Given the description of an element on the screen output the (x, y) to click on. 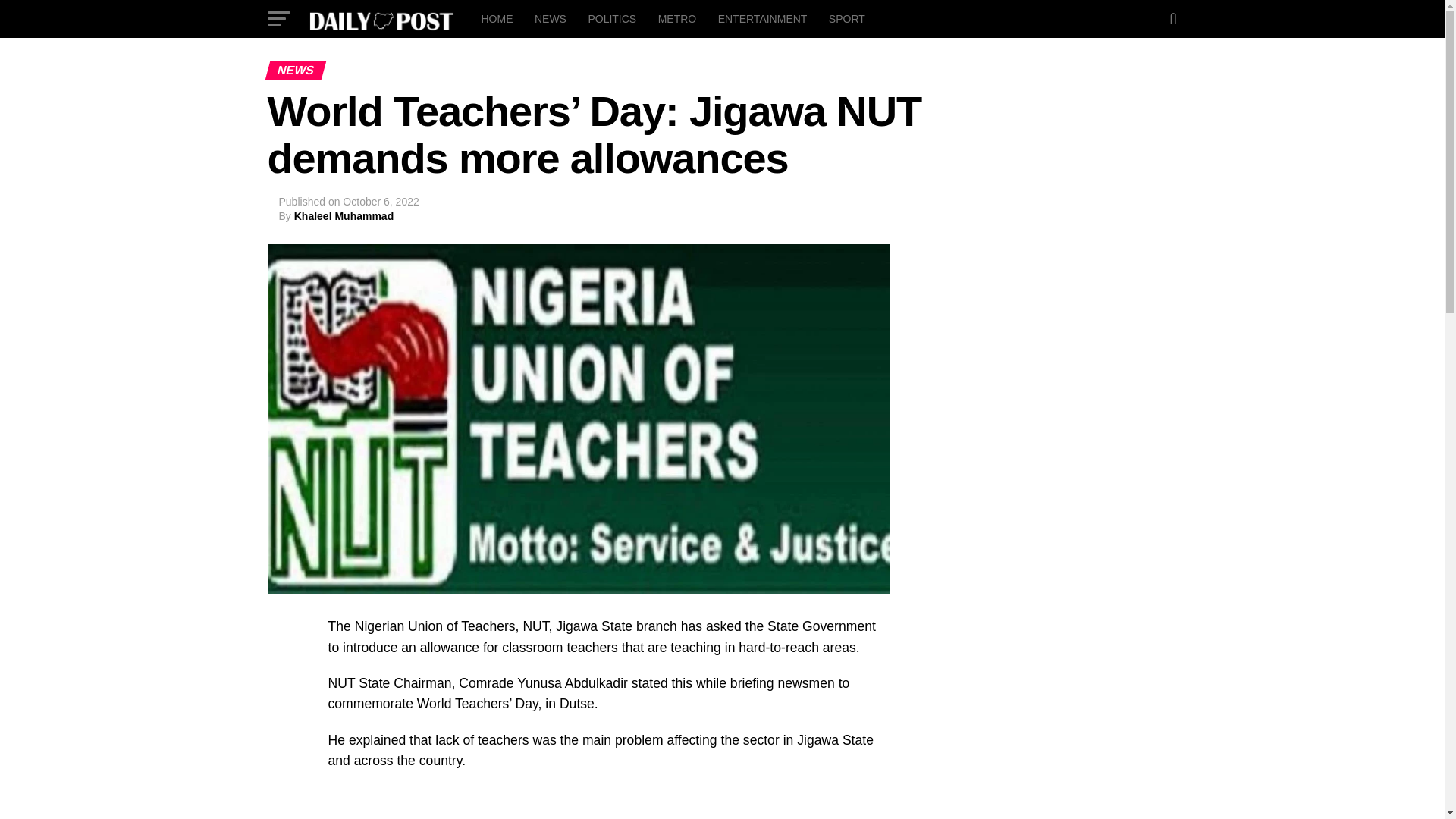
ENTERTAINMENT (762, 18)
SPORT (847, 18)
METRO (677, 18)
Posts by Khaleel Muhammad (343, 215)
Khaleel Muhammad (343, 215)
POLITICS (611, 18)
NEWS (550, 18)
HOME (496, 18)
